Given the description of an element on the screen output the (x, y) to click on. 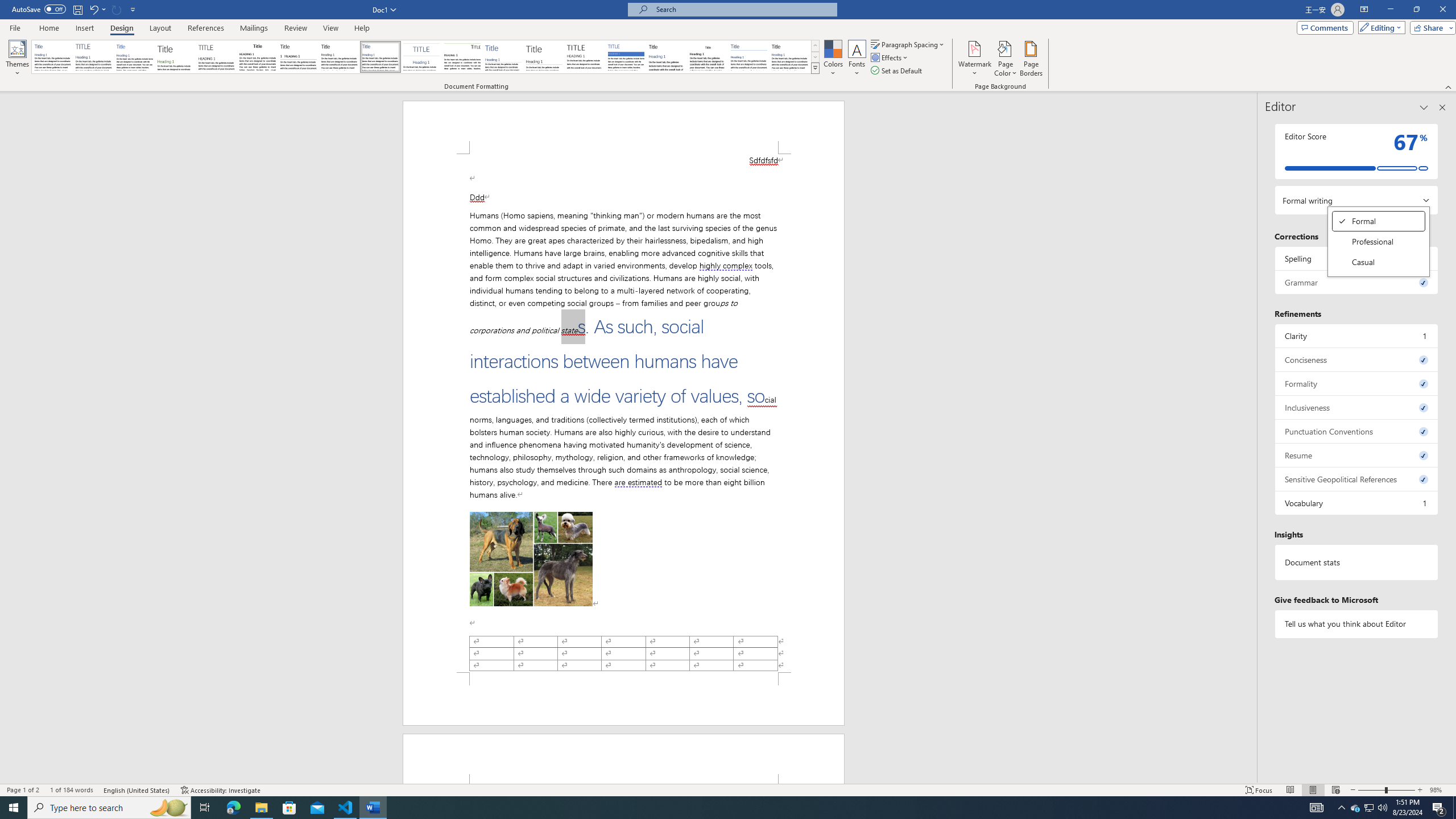
Black & White (Classic) (257, 56)
Style Set (814, 67)
Paragraph Spacing (908, 44)
Undo Outline Move Up (92, 9)
Word - 1 running window (373, 807)
